Given the description of an element on the screen output the (x, y) to click on. 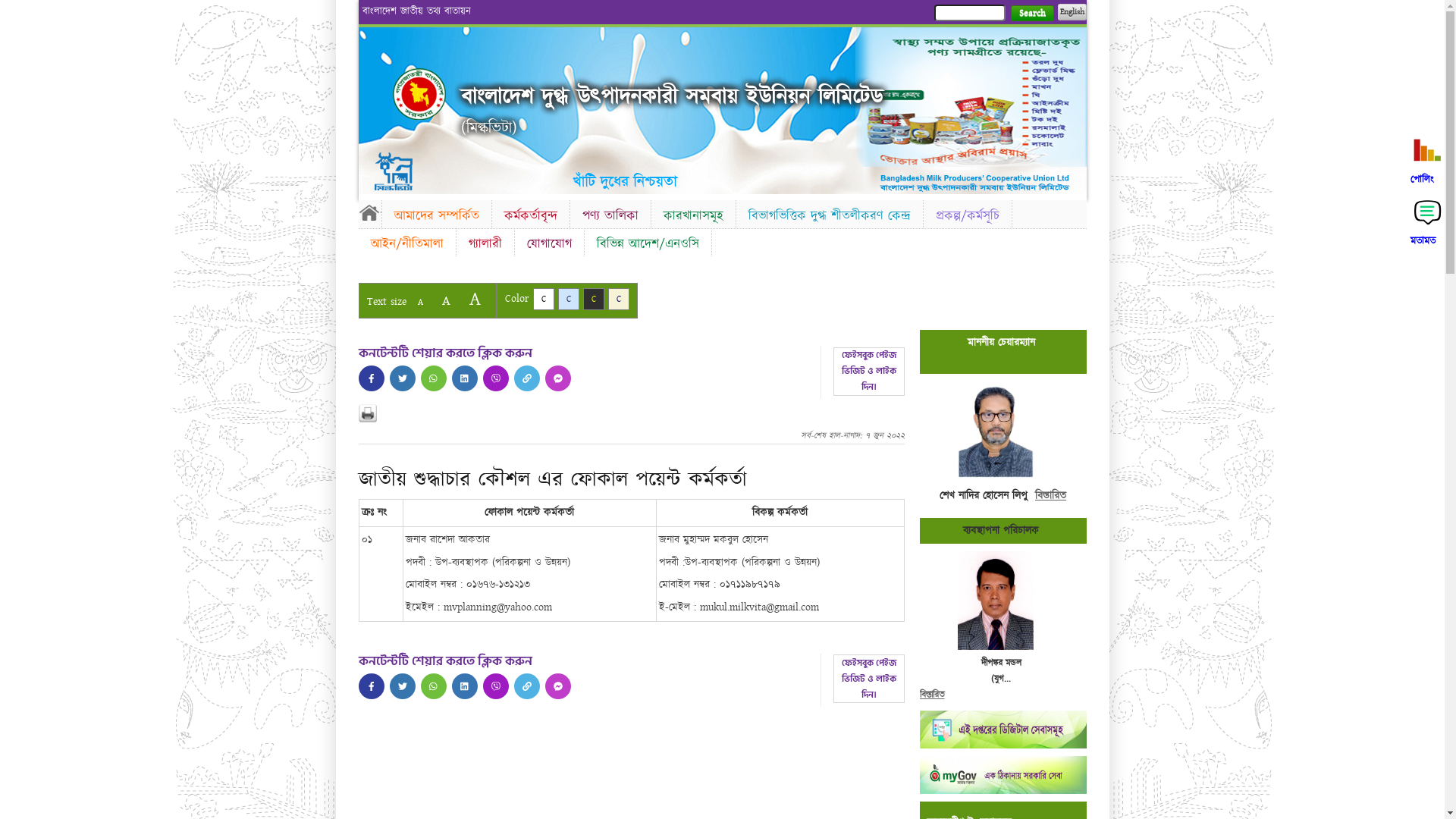
A Element type: text (419, 301)
C Element type: text (568, 299)
A Element type: text (445, 300)
C Element type: text (542, 299)
Home Element type: hover (368, 211)
Search Element type: text (1031, 13)
A Element type: text (474, 298)
Home Element type: hover (418, 93)
C Element type: text (592, 299)
C Element type: text (618, 299)
English Element type: text (1071, 11)
